Given the description of an element on the screen output the (x, y) to click on. 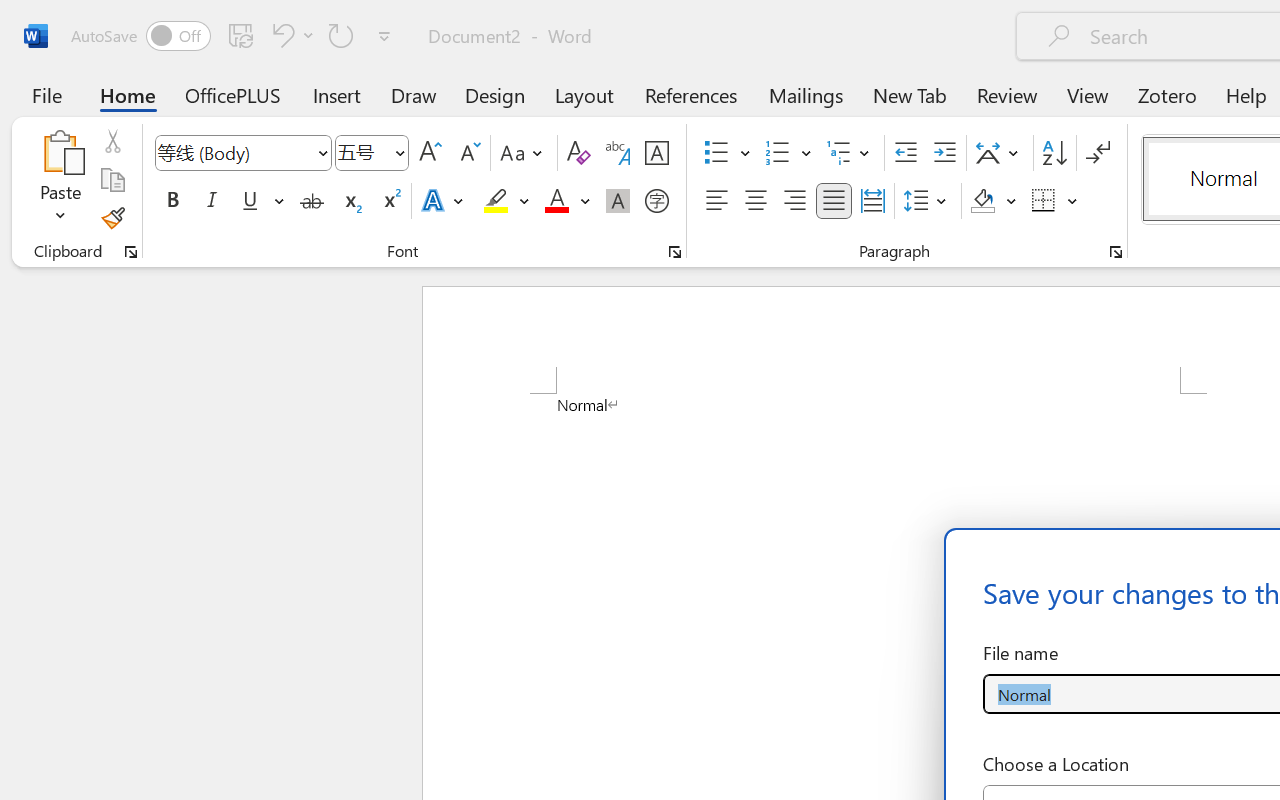
Paste (60, 151)
Character Border (656, 153)
